Given the description of an element on the screen output the (x, y) to click on. 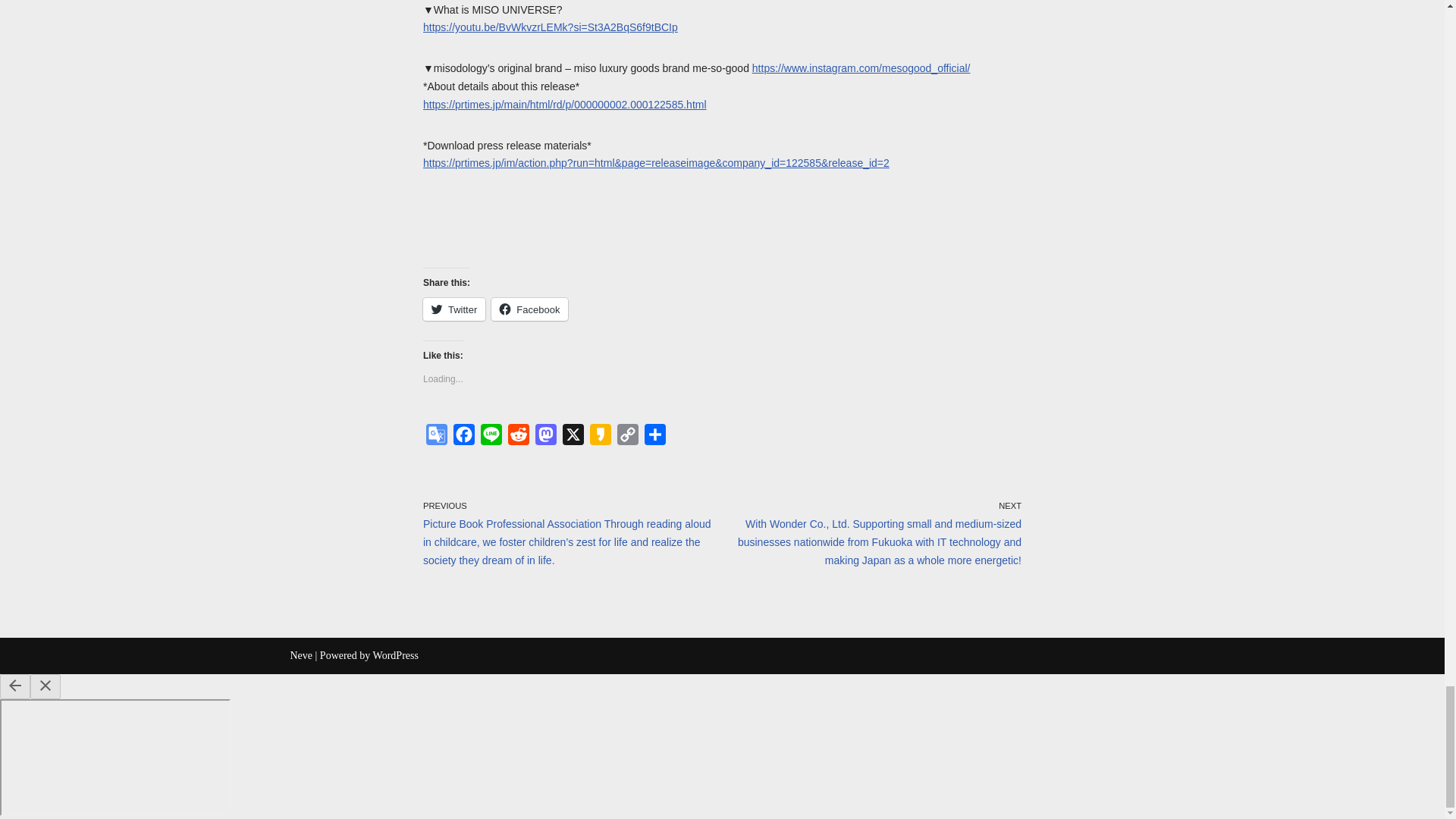
Twitter (453, 309)
